Given the description of an element on the screen output the (x, y) to click on. 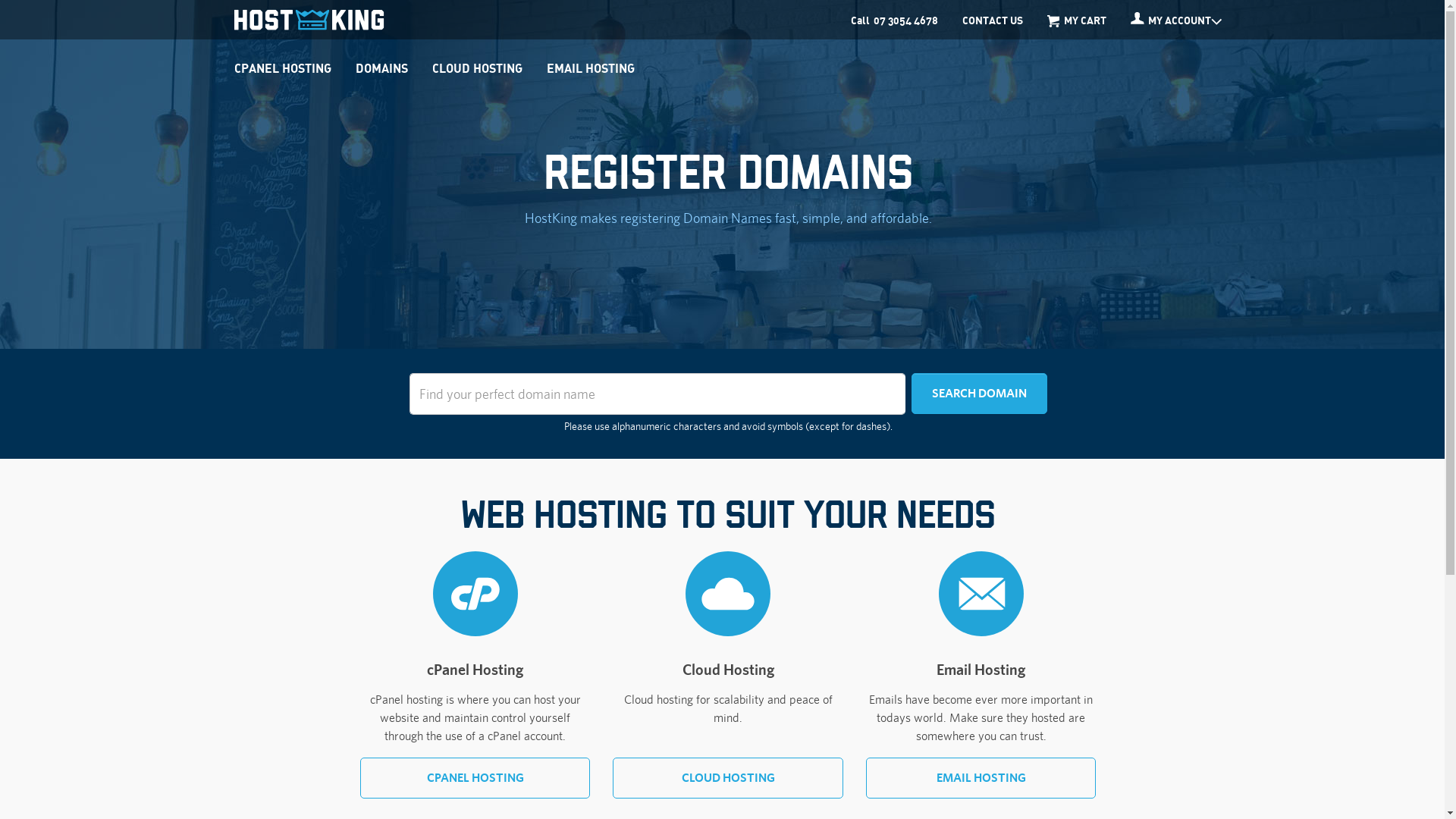
SEARCH DOMAIN Element type: text (979, 393)
CPANEL HOSTING Element type: text (475, 777)
CLOUD HOSTING Element type: text (477, 68)
EMAIL HOSTING Element type: text (981, 777)
CLOUD HOSTING Element type: text (727, 777)
EMAIL HOSTING Element type: text (590, 68)
MY CART Element type: text (1076, 19)
MY ACCOUNT Element type: text (1175, 19)
CPANEL HOSTING Element type: text (282, 68)
Call07 3054 4678 Element type: text (894, 19)
CONTACT US Element type: text (992, 19)
DOMAINS Element type: text (381, 68)
